Given the description of an element on the screen output the (x, y) to click on. 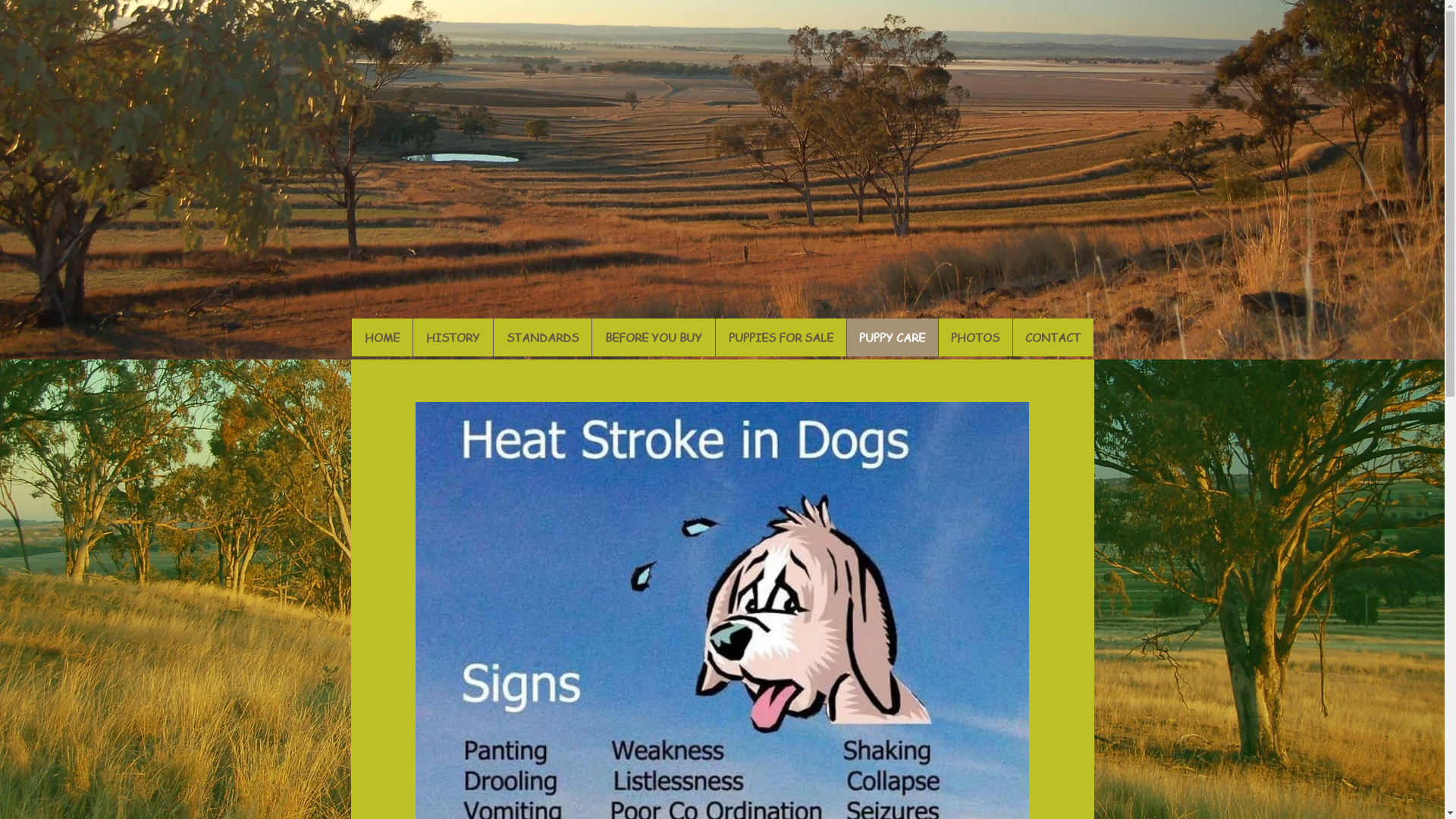
PUPPY CARE Element type: text (892, 337)
HOME Element type: text (381, 337)
PUPPIES FOR SALE Element type: text (779, 337)
BEFORE YOU BUY Element type: text (653, 337)
HISTORY Element type: text (452, 337)
PHOTOS Element type: text (974, 337)
STANDARDS Element type: text (541, 337)
CONTACT Element type: text (1051, 337)
